Given the description of an element on the screen output the (x, y) to click on. 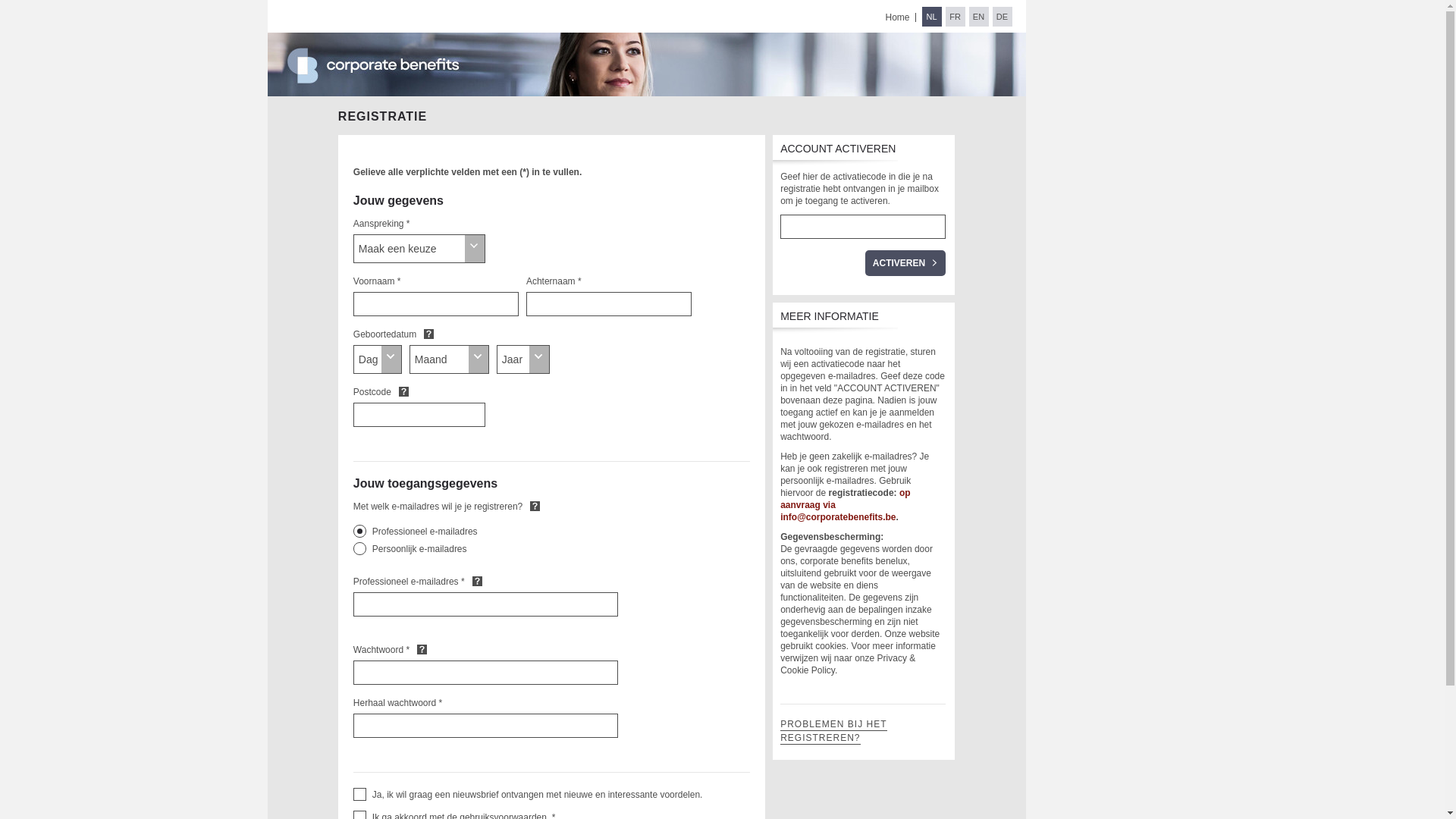
DE Element type: text (1001, 16)
PROBLEMEN BIJ HET REGISTREREN? Element type: text (833, 731)
Default Element type: text (403, 390)
Default Element type: text (534, 505)
Default Element type: text (477, 580)
FR Element type: text (954, 16)
Activeren Element type: text (905, 263)
Home Element type: text (896, 17)
NL Element type: text (931, 16)
EN Element type: text (978, 16)
Default Element type: text (428, 333)
Default Element type: text (421, 648)
